Given the description of an element on the screen output the (x, y) to click on. 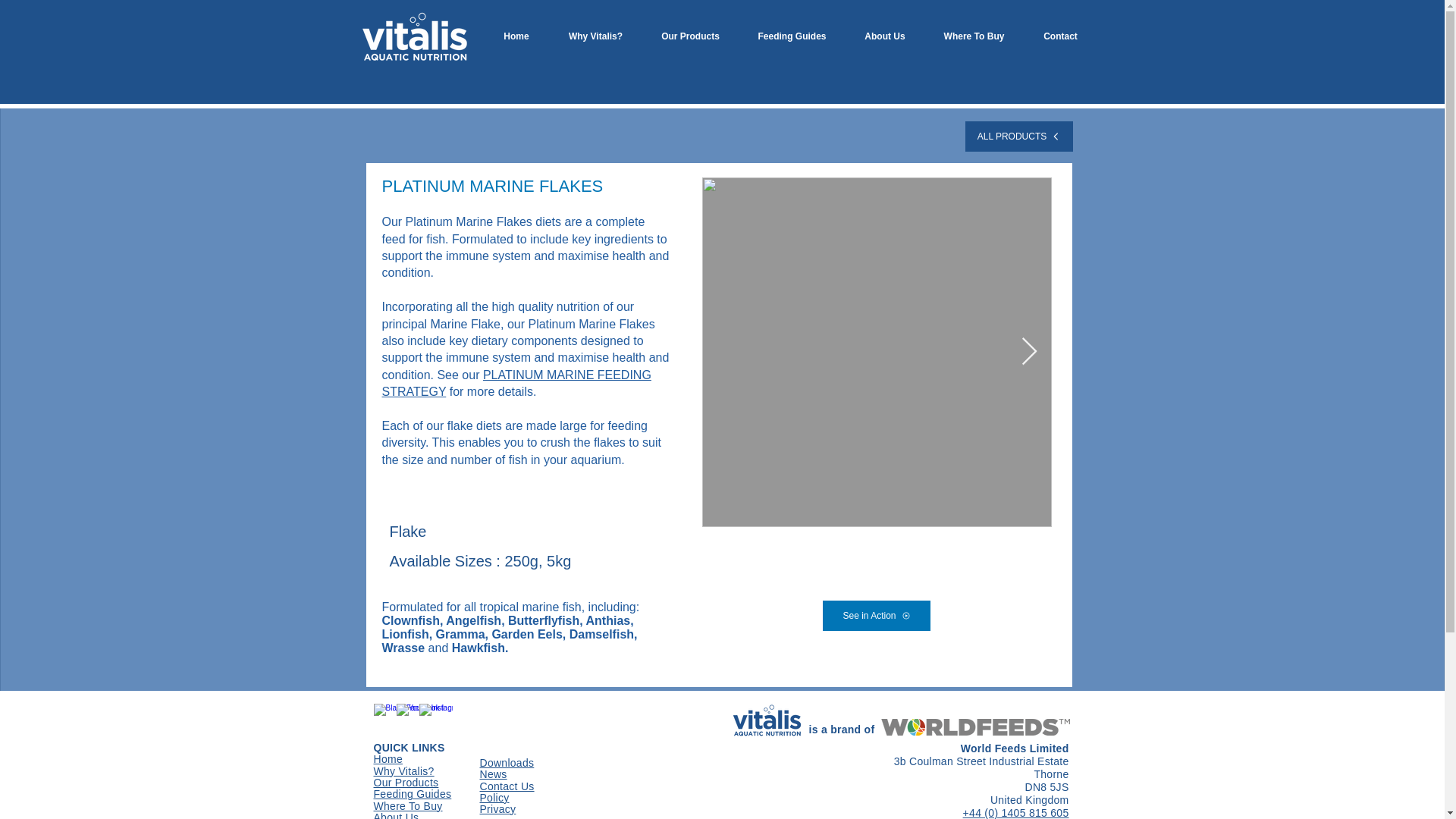
Contact Us (506, 786)
About Us (395, 816)
Our Products (405, 782)
Home (386, 759)
Downloads (506, 763)
See in Action (876, 615)
News (492, 774)
Feeding Guides (411, 794)
ALL PRODUCTS (1017, 136)
Contact (1059, 36)
Why Vitalis? (595, 36)
About Us (884, 36)
Feeding Guides (791, 36)
Where To Buy (973, 36)
Our Products (690, 36)
